Given the description of an element on the screen output the (x, y) to click on. 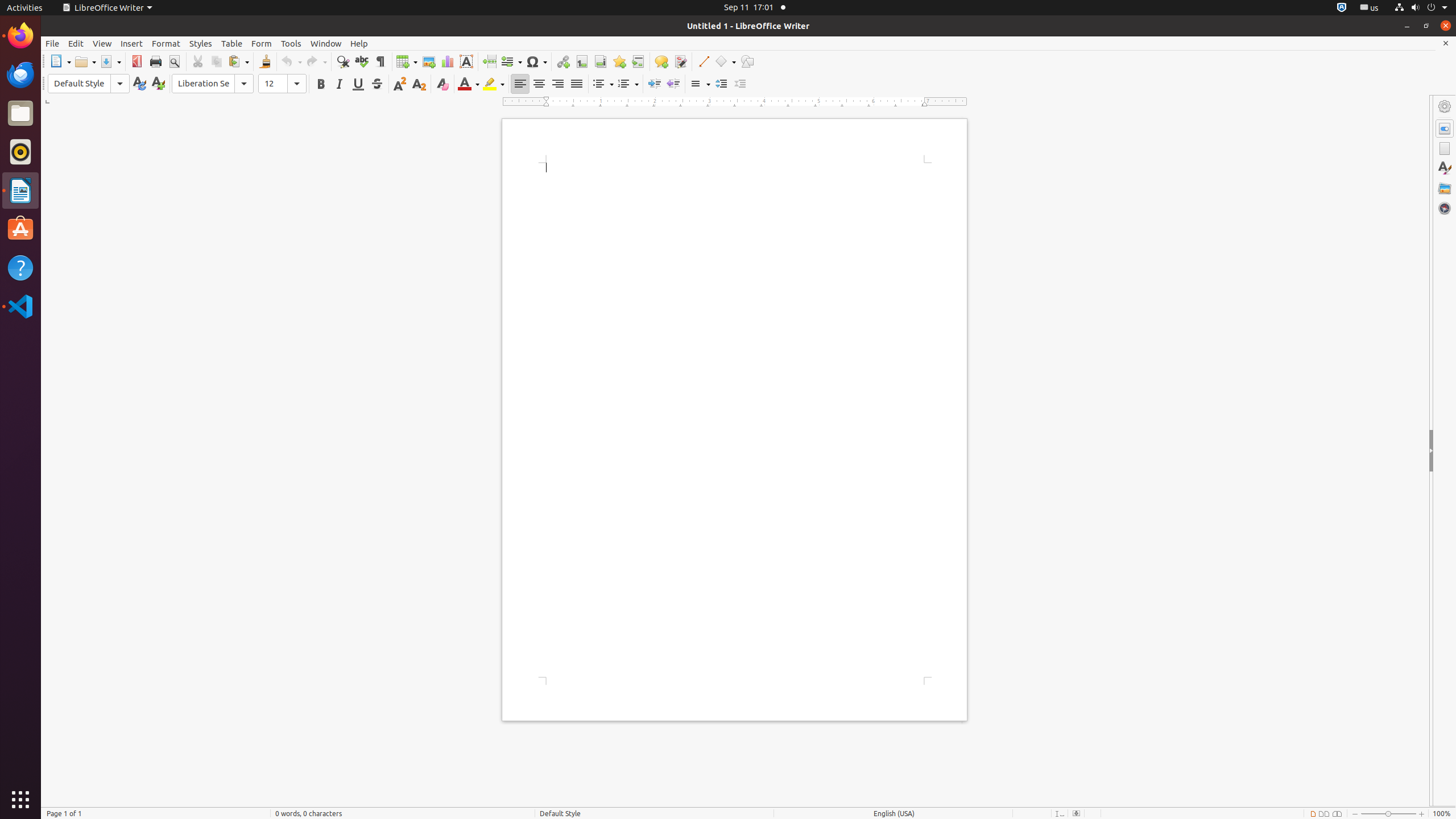
Bold Element type: toggle-button (320, 83)
Superscript Element type: toggle-button (399, 83)
Strikethrough Element type: toggle-button (376, 83)
Font Size Element type: combo-box (282, 83)
